Given the description of an element on the screen output the (x, y) to click on. 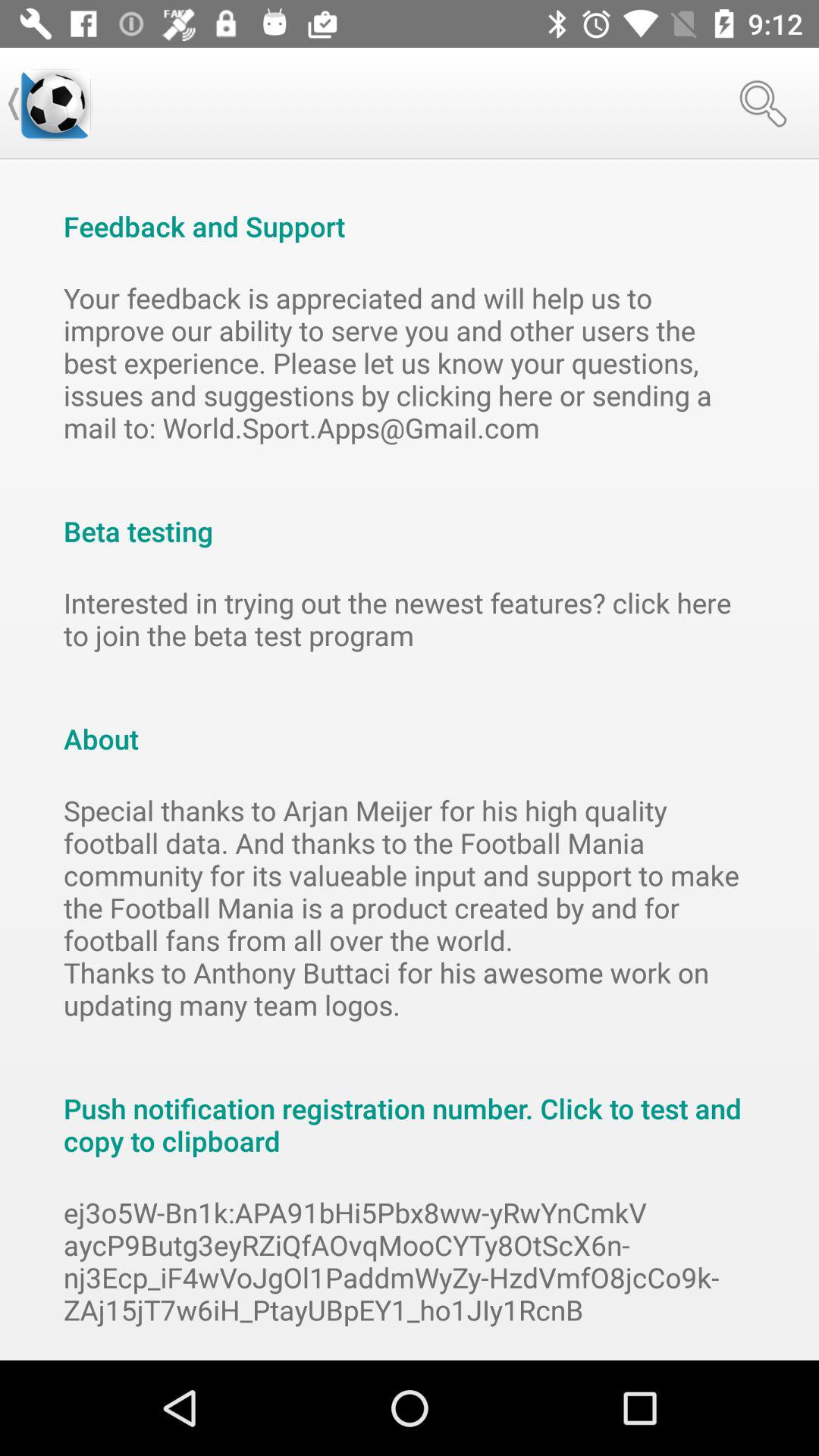
turn off the beta testing (409, 514)
